Given the description of an element on the screen output the (x, y) to click on. 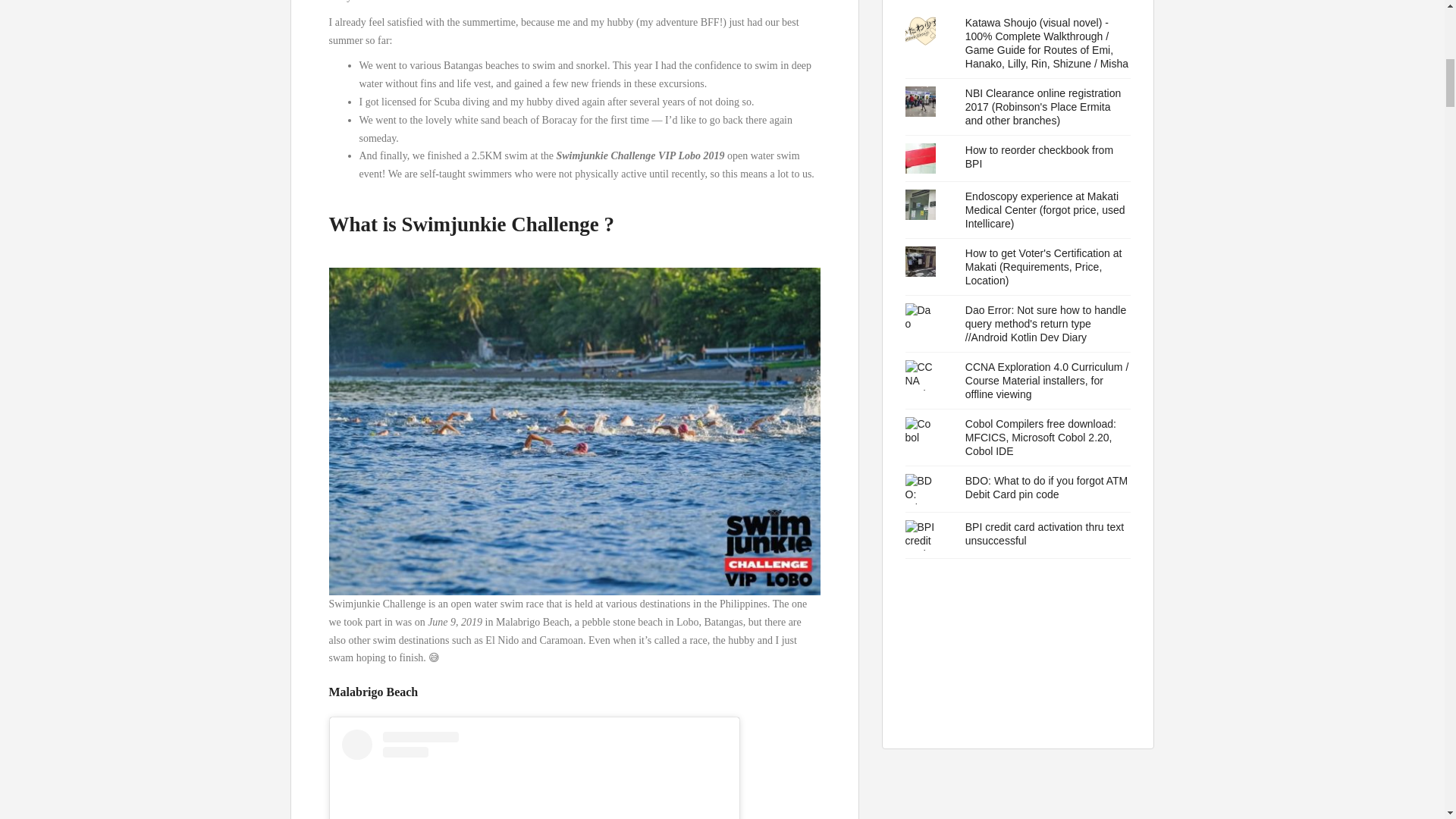
View this post on Instagram (533, 774)
